Given the description of an element on the screen output the (x, y) to click on. 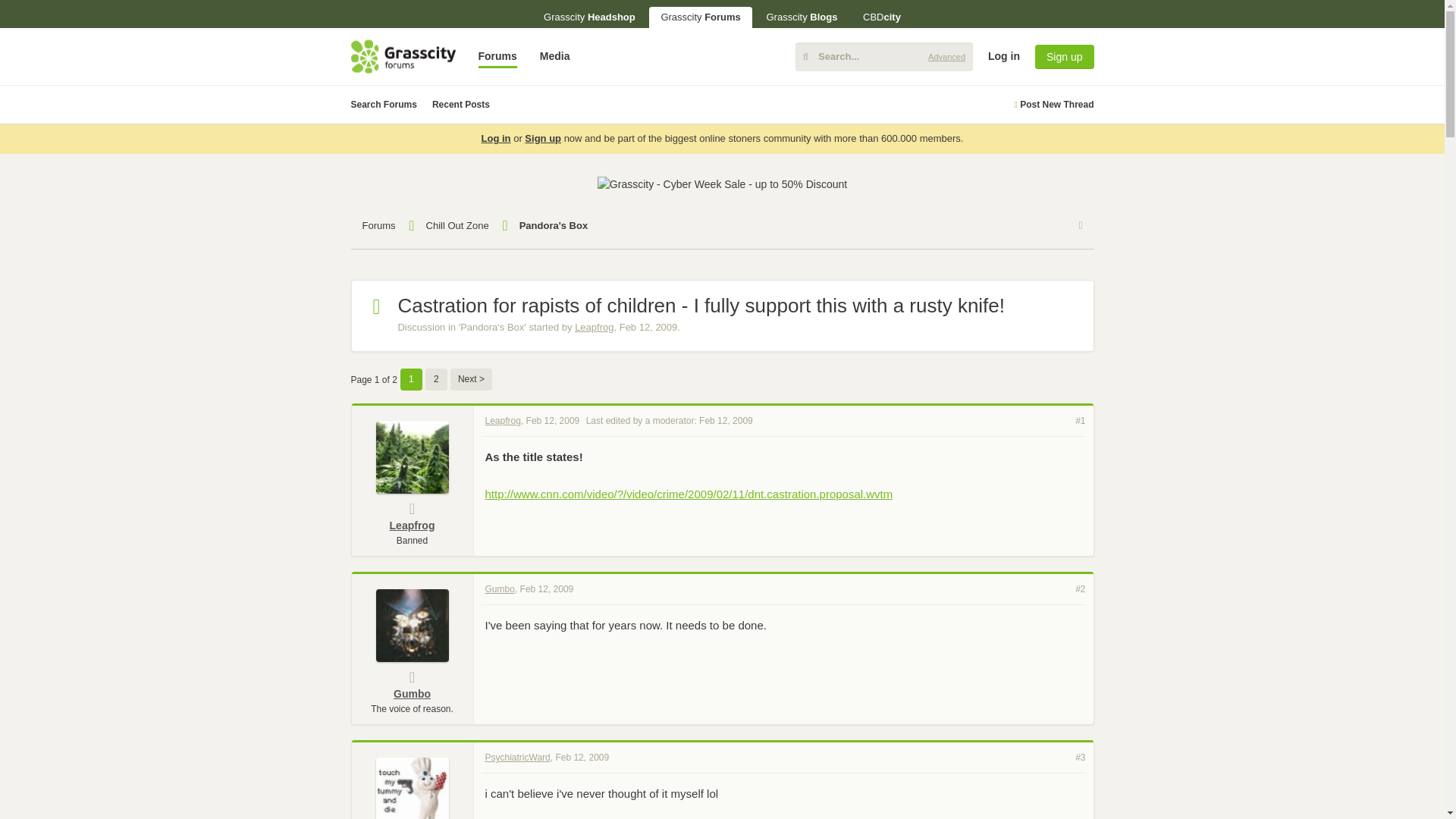
Post New Thread (1053, 104)
Advanced (946, 56)
Log in (1316, 172)
Grasscity Blogs (801, 16)
Search Forums (383, 104)
Grasscity Headshop (589, 16)
Media (554, 56)
CBDcity (881, 16)
Permalink (552, 420)
Enter your search and hit enter (883, 56)
